Given the description of an element on the screen output the (x, y) to click on. 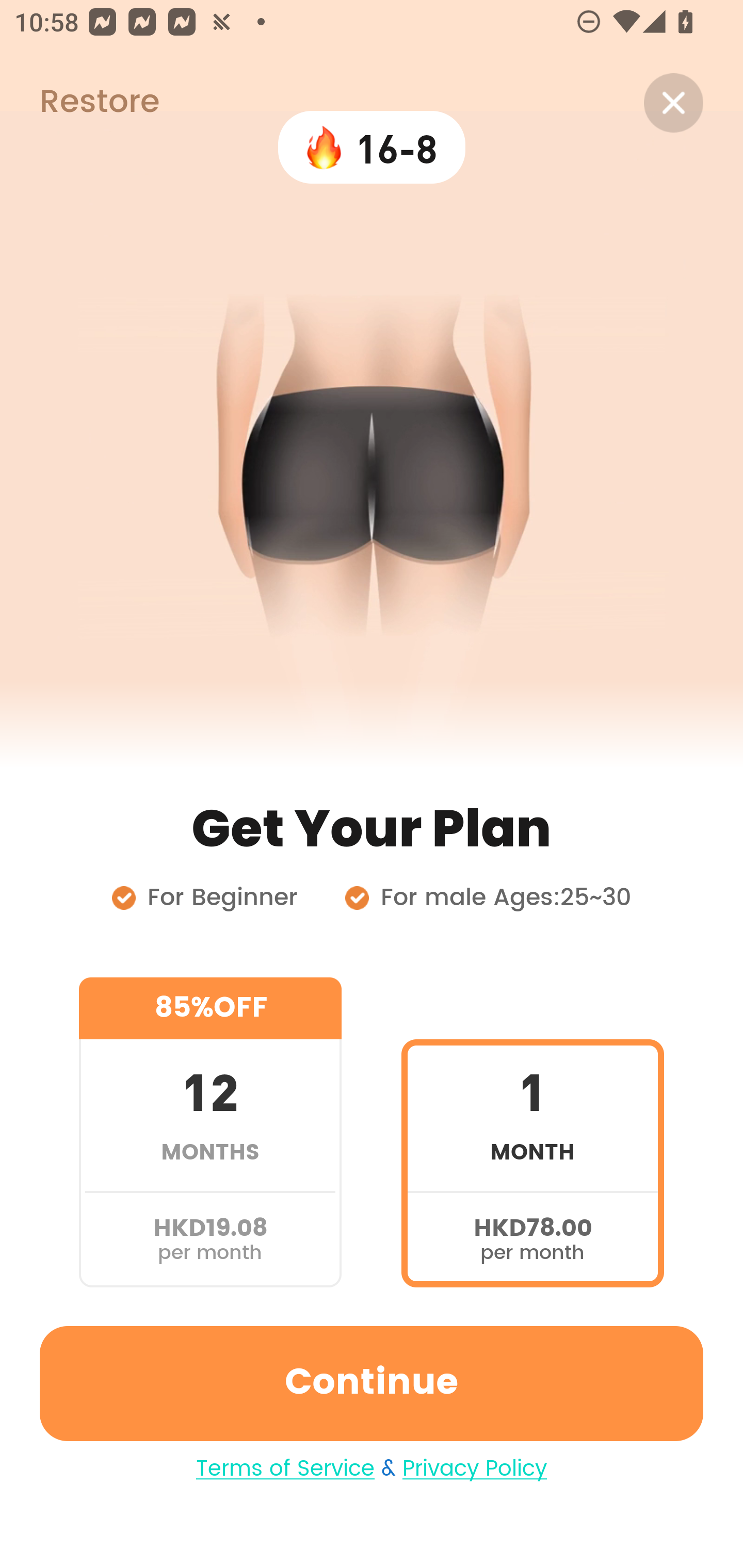
Restore (79, 102)
85%OFF 12 MONTHS per month HKD19.08 (209, 1131)
1 MONTH per month HKD78.00 (532, 1131)
Continue (371, 1383)
